Given the description of an element on the screen output the (x, y) to click on. 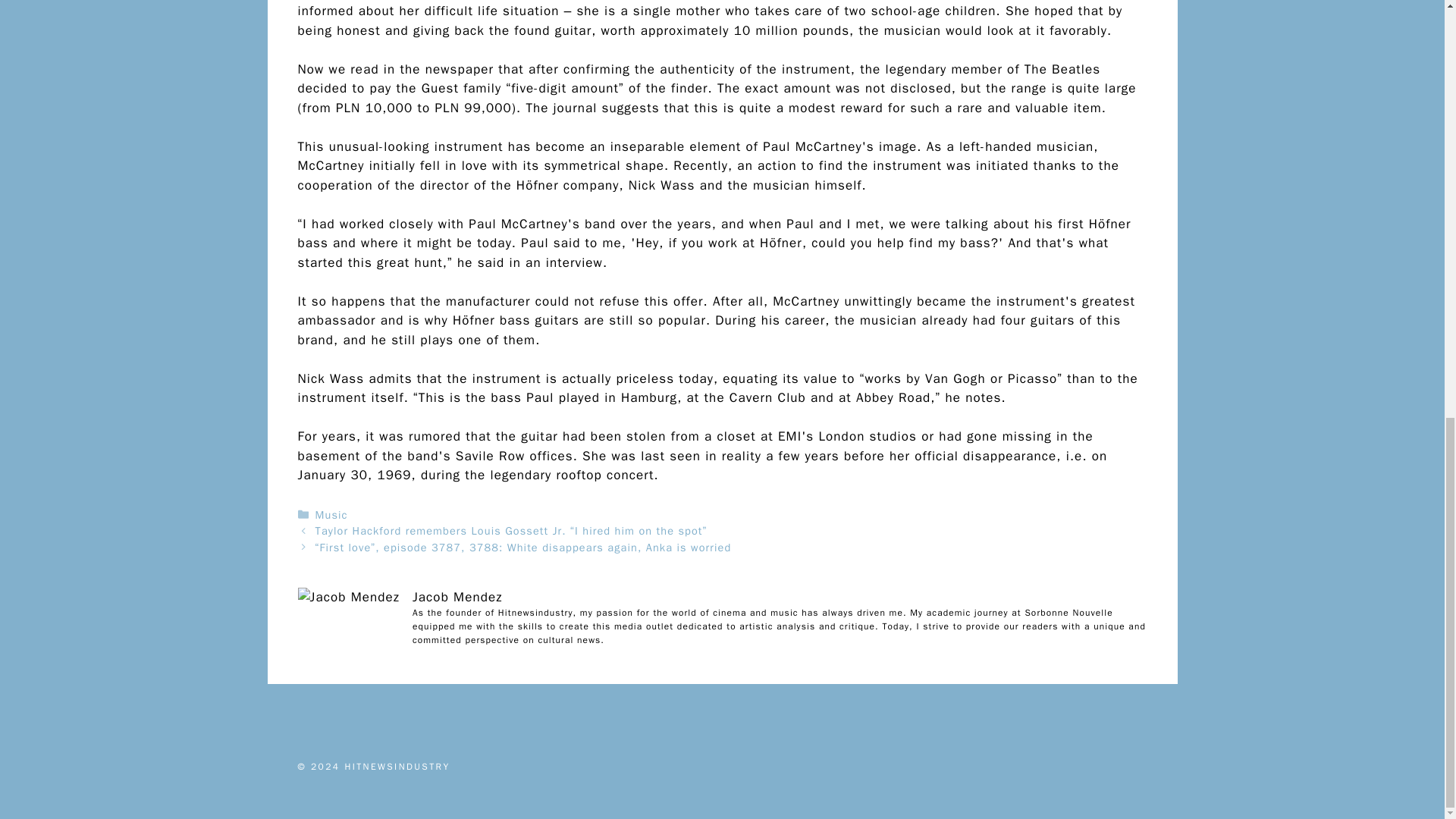
Music (331, 514)
